Given the description of an element on the screen output the (x, y) to click on. 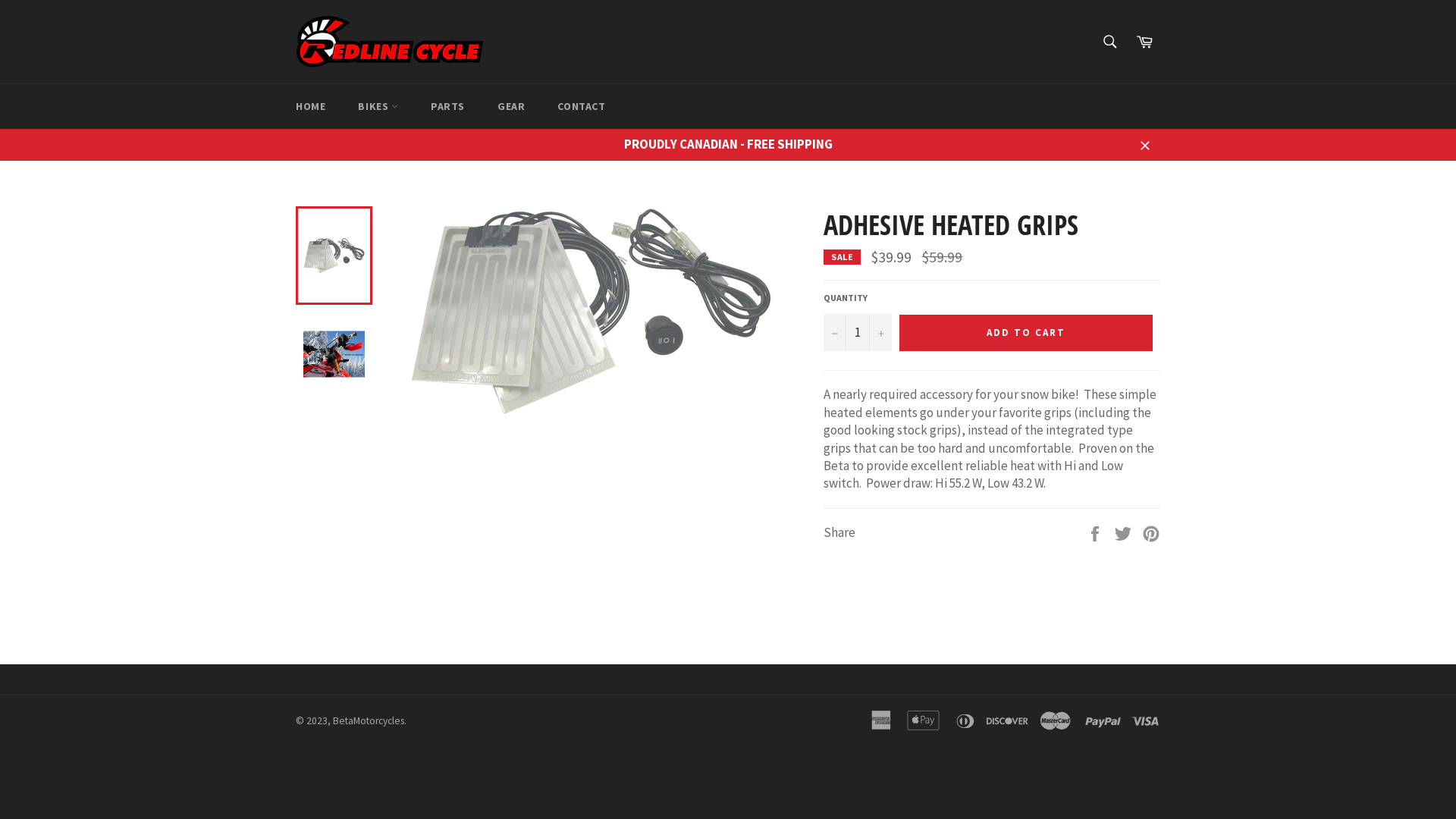
PARTS Element type: text (447, 106)
GEAR Element type: text (510, 106)
CONTACT Element type: text (581, 106)
Search Element type: text (1110, 41)
+ Element type: text (880, 332)
Share on Facebook Element type: text (1095, 532)
Tweet on Twitter Element type: text (1123, 532)
BetaMotorcycles Element type: text (368, 720)
BIKES Element type: text (377, 106)
HOME Element type: text (310, 106)
ADD TO CART Element type: text (1025, 332)
Close Element type: text (1144, 144)
Pin on Pinterest Element type: text (1151, 532)
Cart Element type: text (1144, 41)
